Given the description of an element on the screen output the (x, y) to click on. 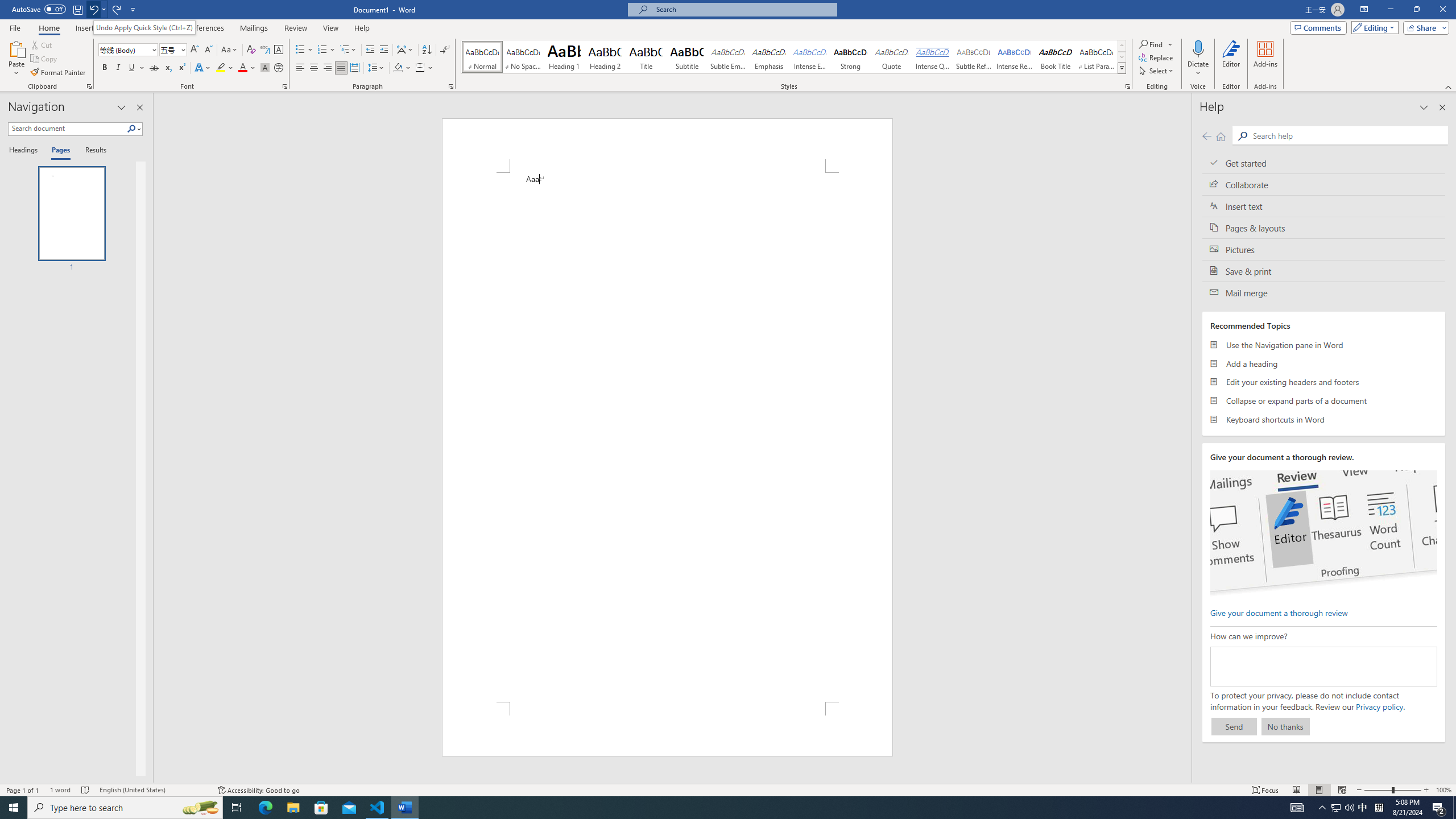
Collapse or expand parts of a document (1323, 400)
Strong (849, 56)
